Given the description of an element on the screen output the (x, y) to click on. 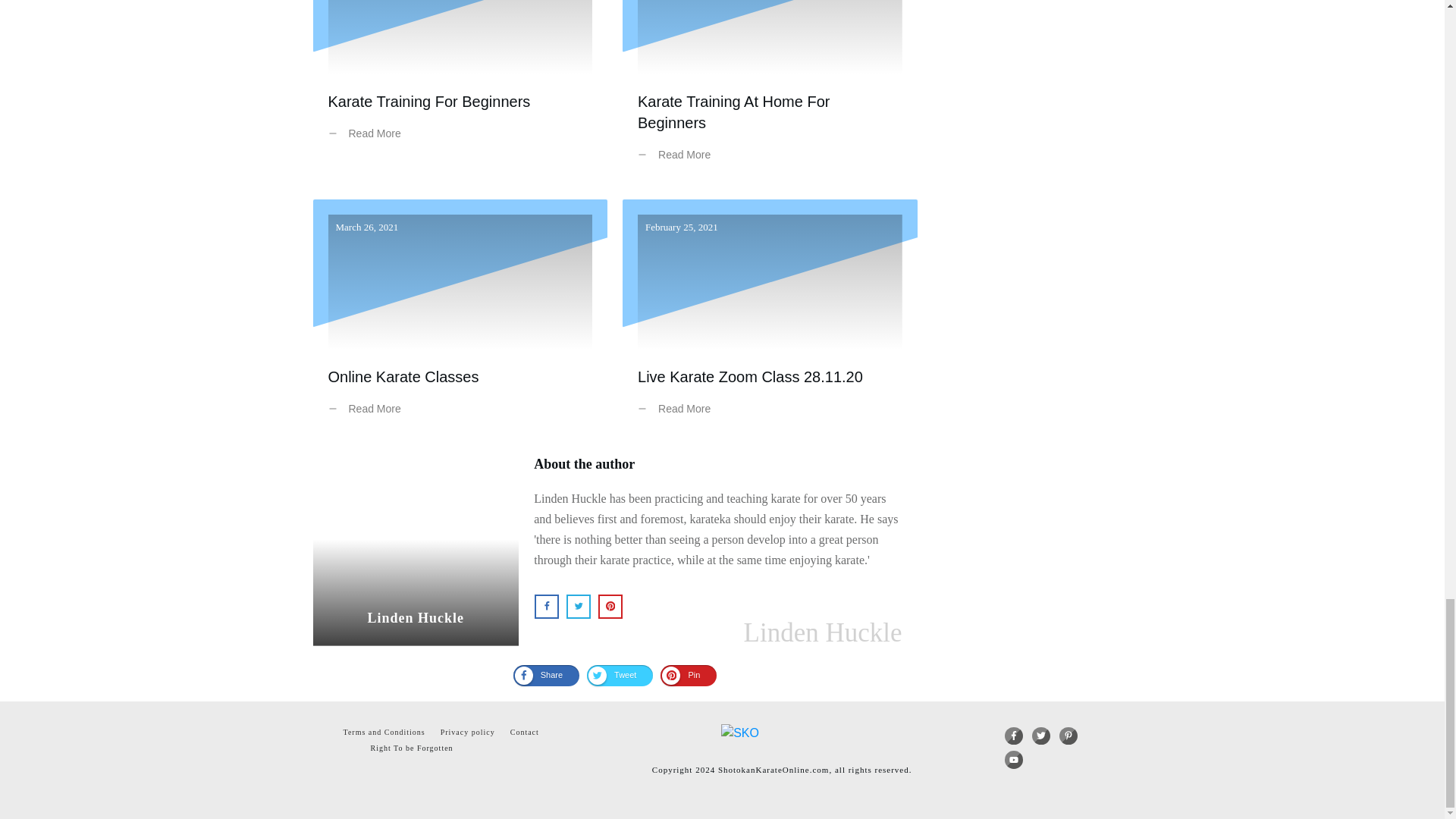
Karate Training For Beginners (428, 101)
Karate Training At Home For Beginners (733, 112)
Online Karate Classes (403, 376)
Karate Training For Beginners (460, 92)
Live Karate Zoom Class 28.11.20 (750, 376)
Online Karate Classes (460, 318)
Karate Training At Home For Beginners (733, 112)
Read More (367, 408)
Karate Training At Home For Beginners (770, 92)
Share (546, 675)
Pin (688, 675)
Karate Training For Beginners (428, 101)
Read More (677, 408)
Online Karate Classes (403, 376)
Read More (367, 133)
